Given the description of an element on the screen output the (x, y) to click on. 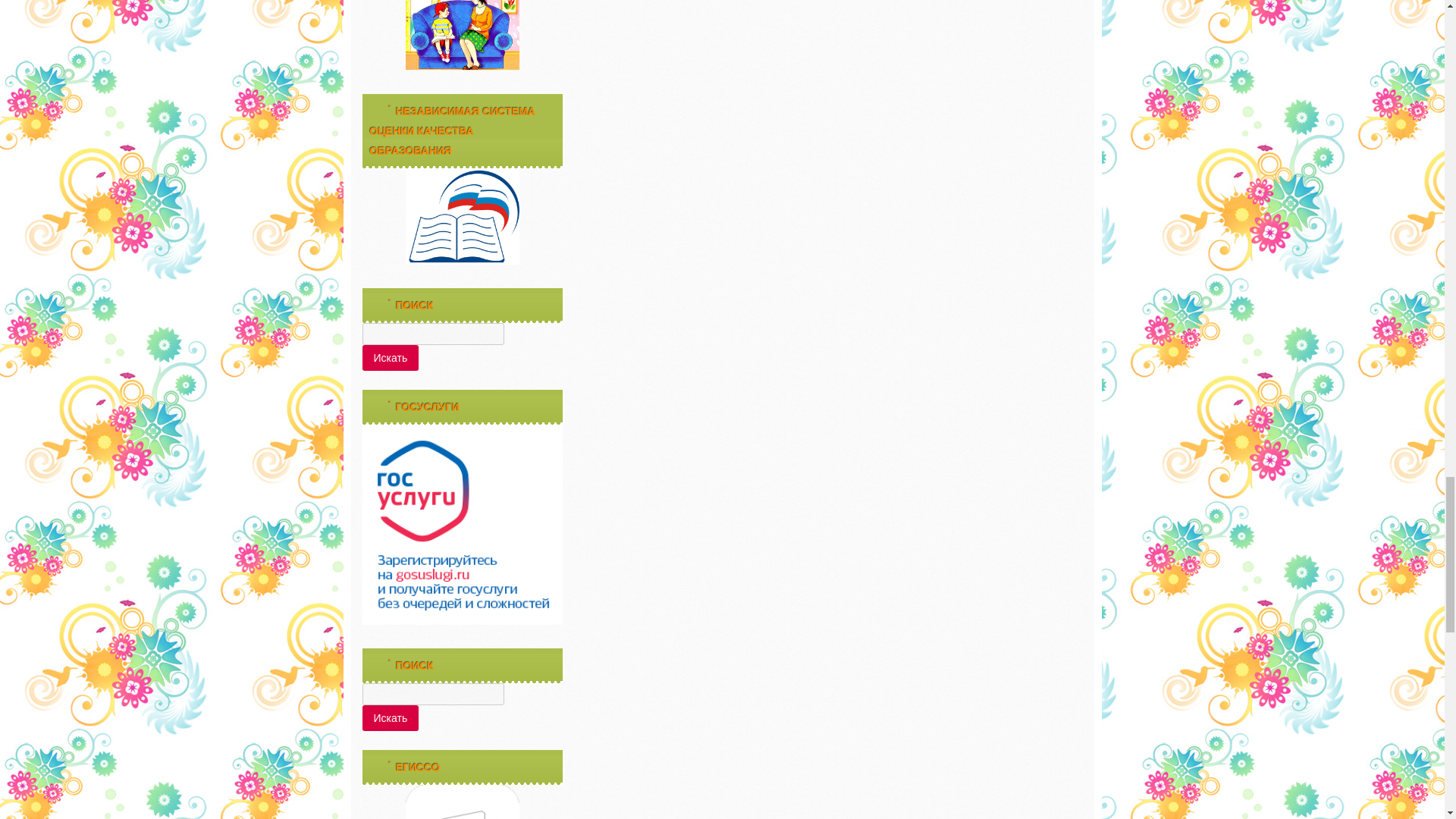
Search for: (432, 333)
Search for: (432, 694)
